Given the description of an element on the screen output the (x, y) to click on. 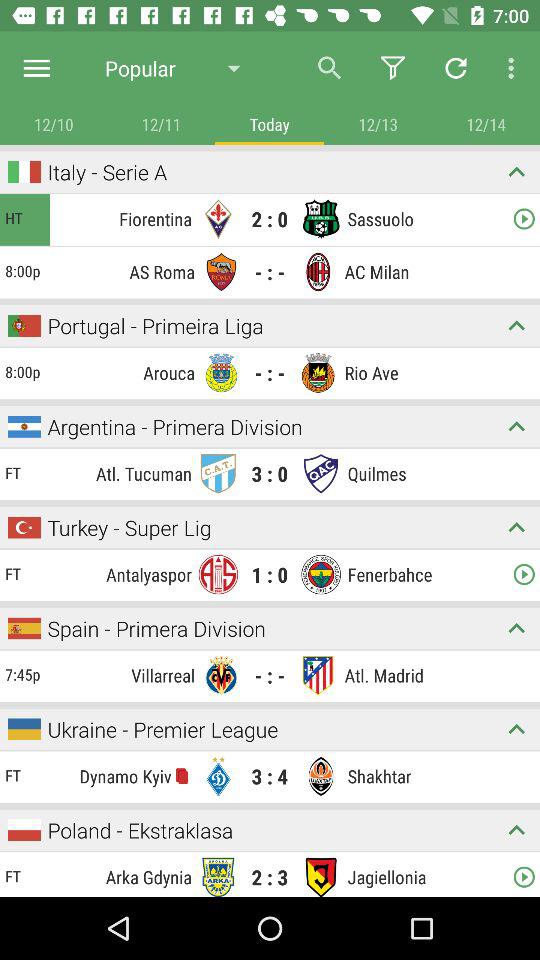
drop down menu (516, 325)
